Given the description of an element on the screen output the (x, y) to click on. 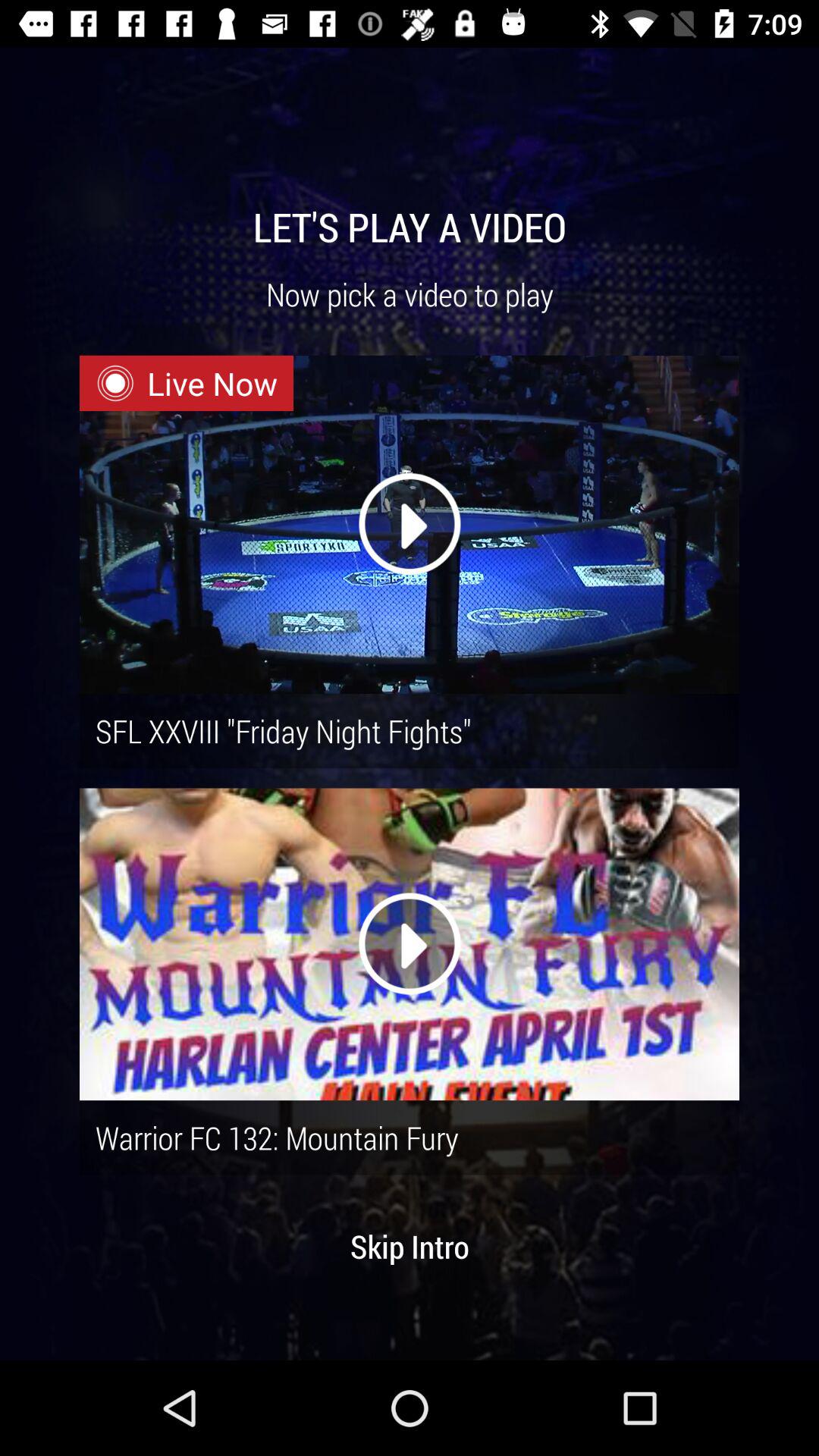
scroll until the skip intro (409, 1246)
